Given the description of an element on the screen output the (x, y) to click on. 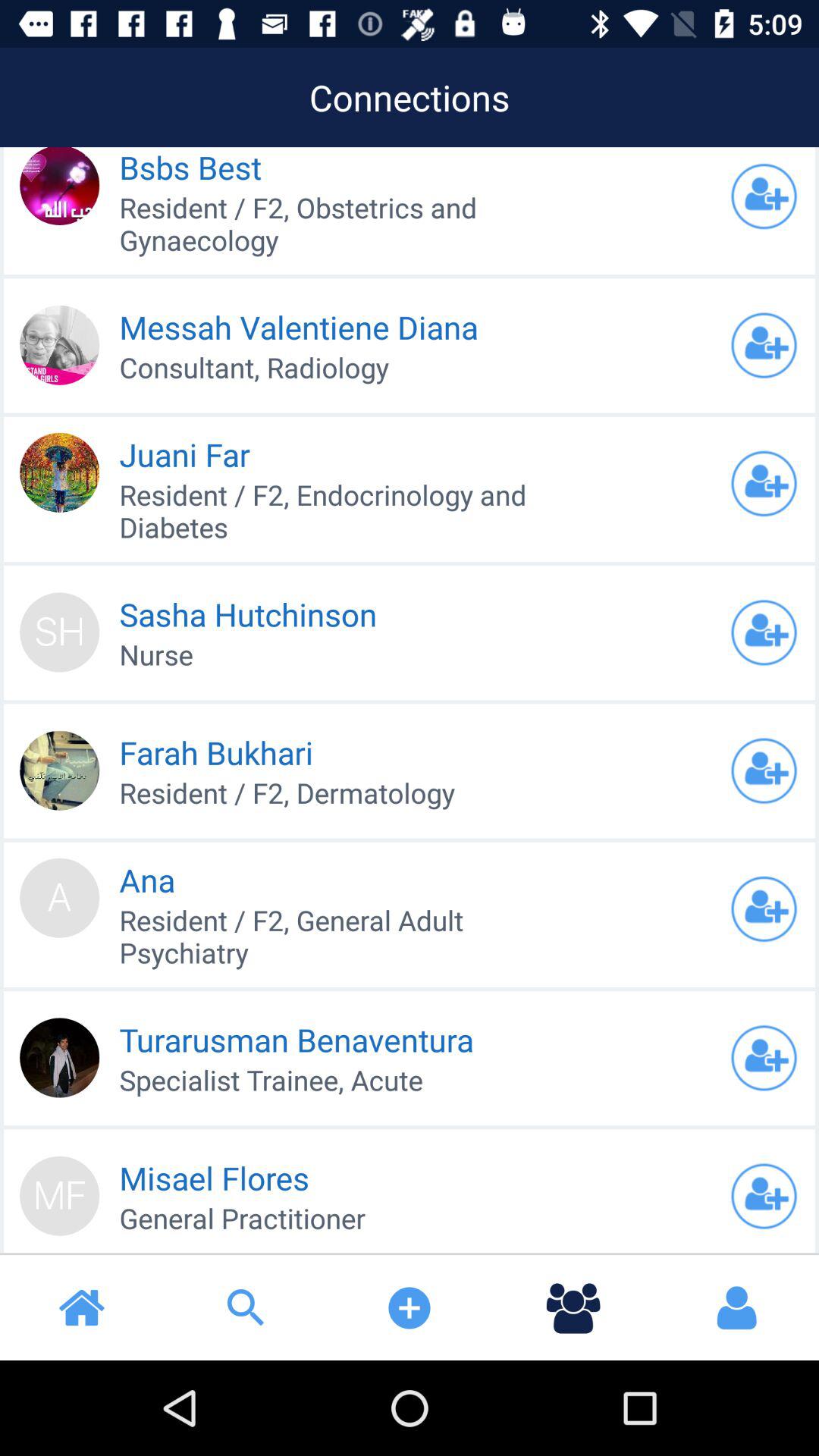
add friend (764, 1196)
